Given the description of an element on the screen output the (x, y) to click on. 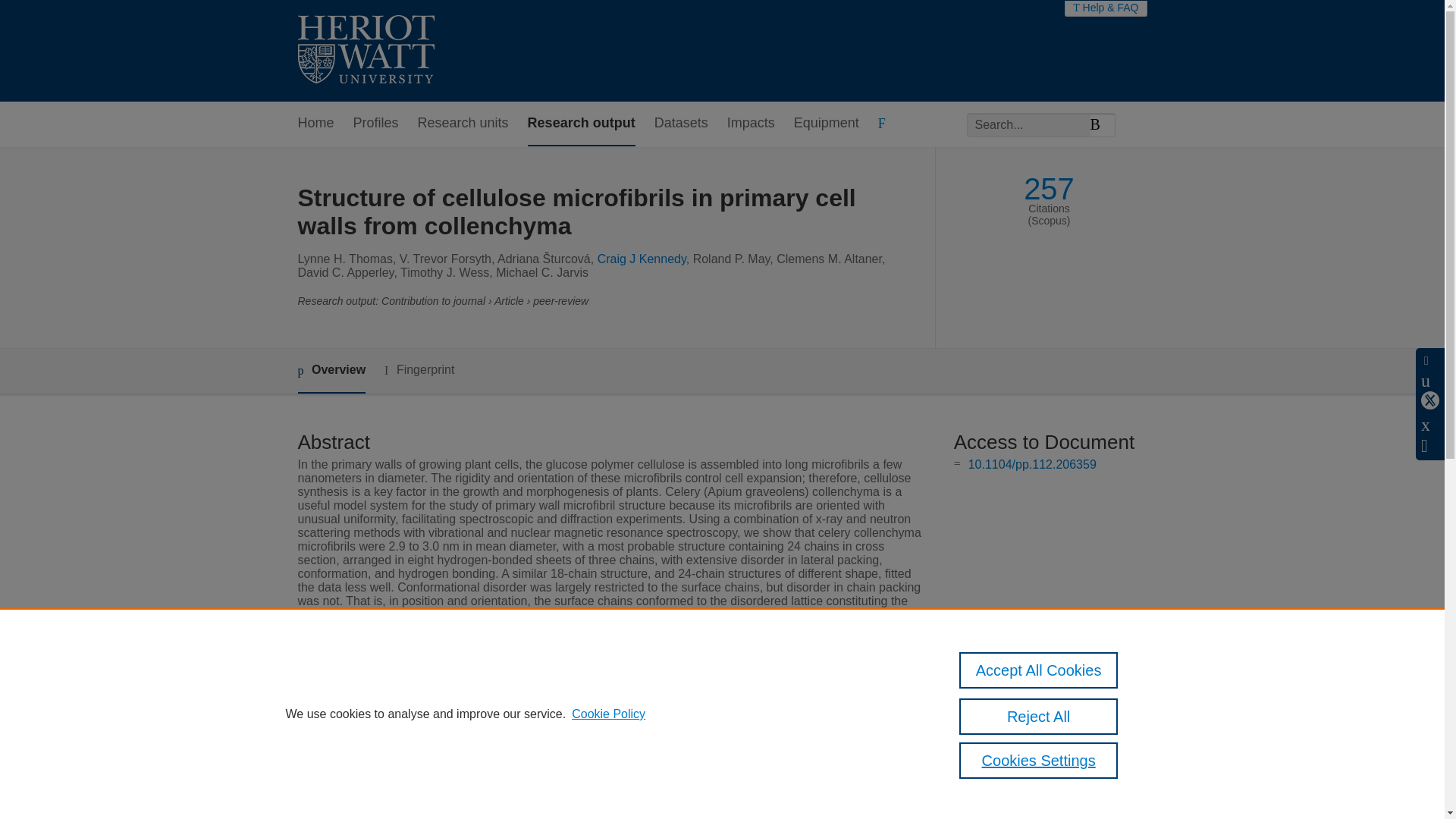
Equipment (826, 123)
Plant Physiology (555, 732)
Impacts (750, 123)
257 (1048, 189)
Overview (331, 370)
Heriot-Watt Research Portal Home (365, 50)
Research units (462, 123)
Datasets (680, 123)
Research output (580, 123)
